Given the description of an element on the screen output the (x, y) to click on. 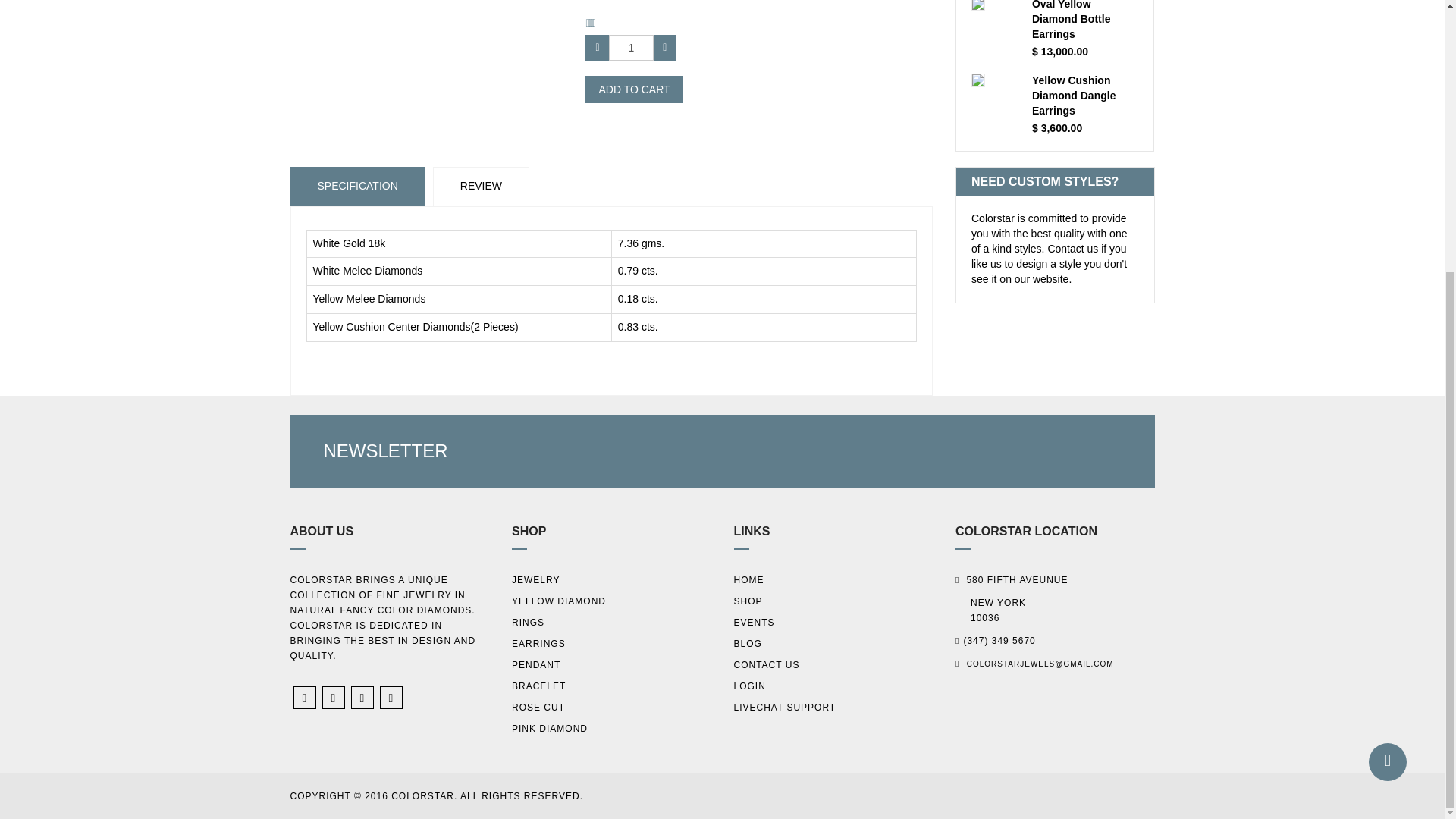
Oval Yellow Diamond Bottle Earrings (1085, 21)
REVIEW (480, 186)
ADD TO CART (633, 89)
SPECIFICATION (357, 186)
Yellow Cushion Diamond Dangle Earrings (1085, 95)
Yellow Cushion Diamond Dangle Earrings (1085, 95)
1 (630, 47)
Oval Yellow Diamond Bottle Earrings (1085, 21)
